Given the description of an element on the screen output the (x, y) to click on. 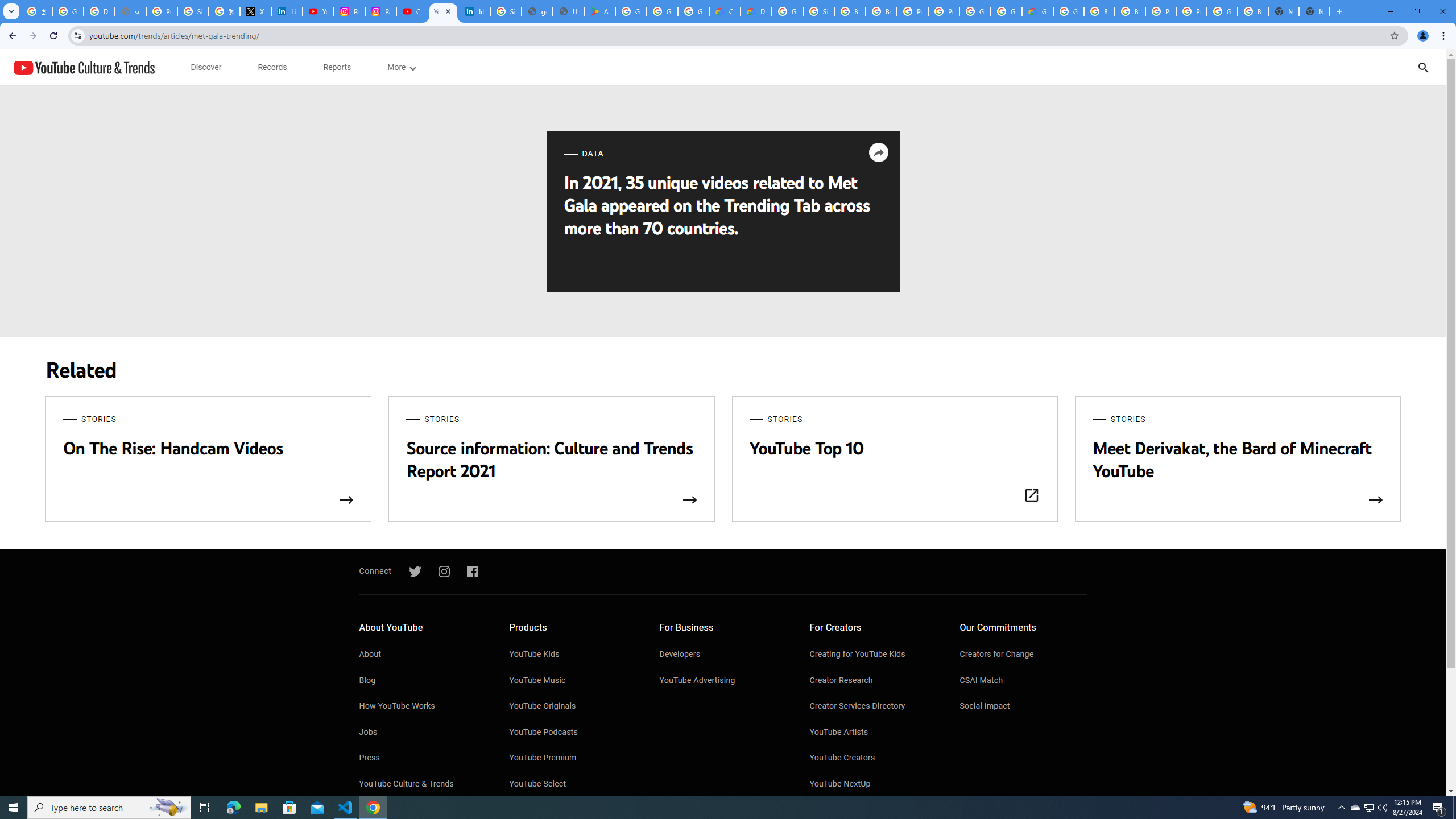
How YouTube Works (422, 706)
Sign in - Google Accounts (192, 11)
subnav-Records menupopup (271, 67)
Google Cloud Platform (1005, 11)
YouTube Kids (573, 655)
Instagram (443, 571)
Twitter (414, 571)
Facebook (472, 571)
LinkedIn Privacy Policy (286, 11)
